Given the description of an element on the screen output the (x, y) to click on. 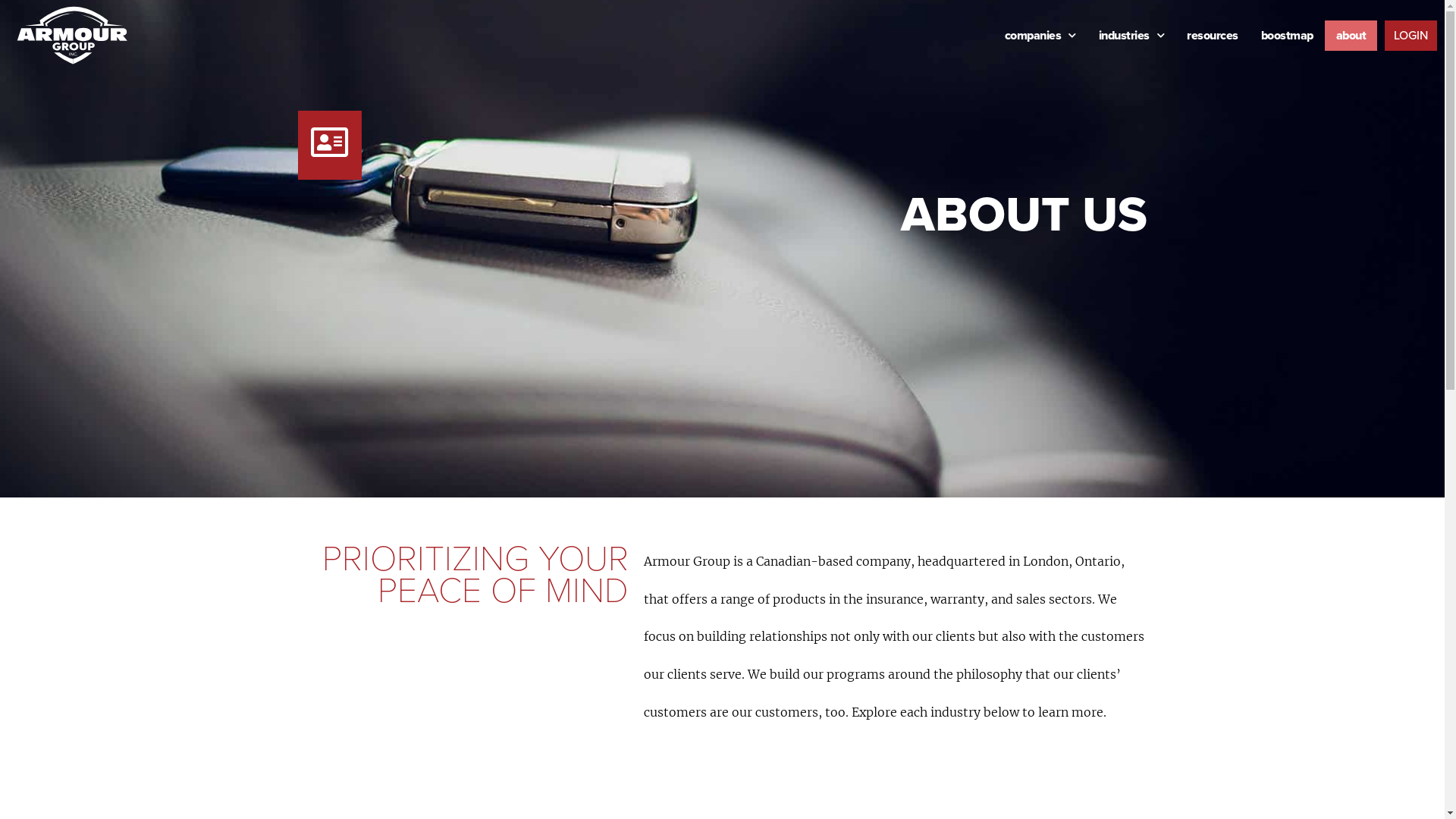
about Element type: text (1350, 35)
armourgroup-logo-white Element type: hover (71, 34)
companies Element type: text (1040, 35)
boostmap Element type: text (1286, 35)
industries Element type: text (1131, 35)
LOGIN Element type: text (1410, 35)
resources Element type: text (1212, 35)
